Given the description of an element on the screen output the (x, y) to click on. 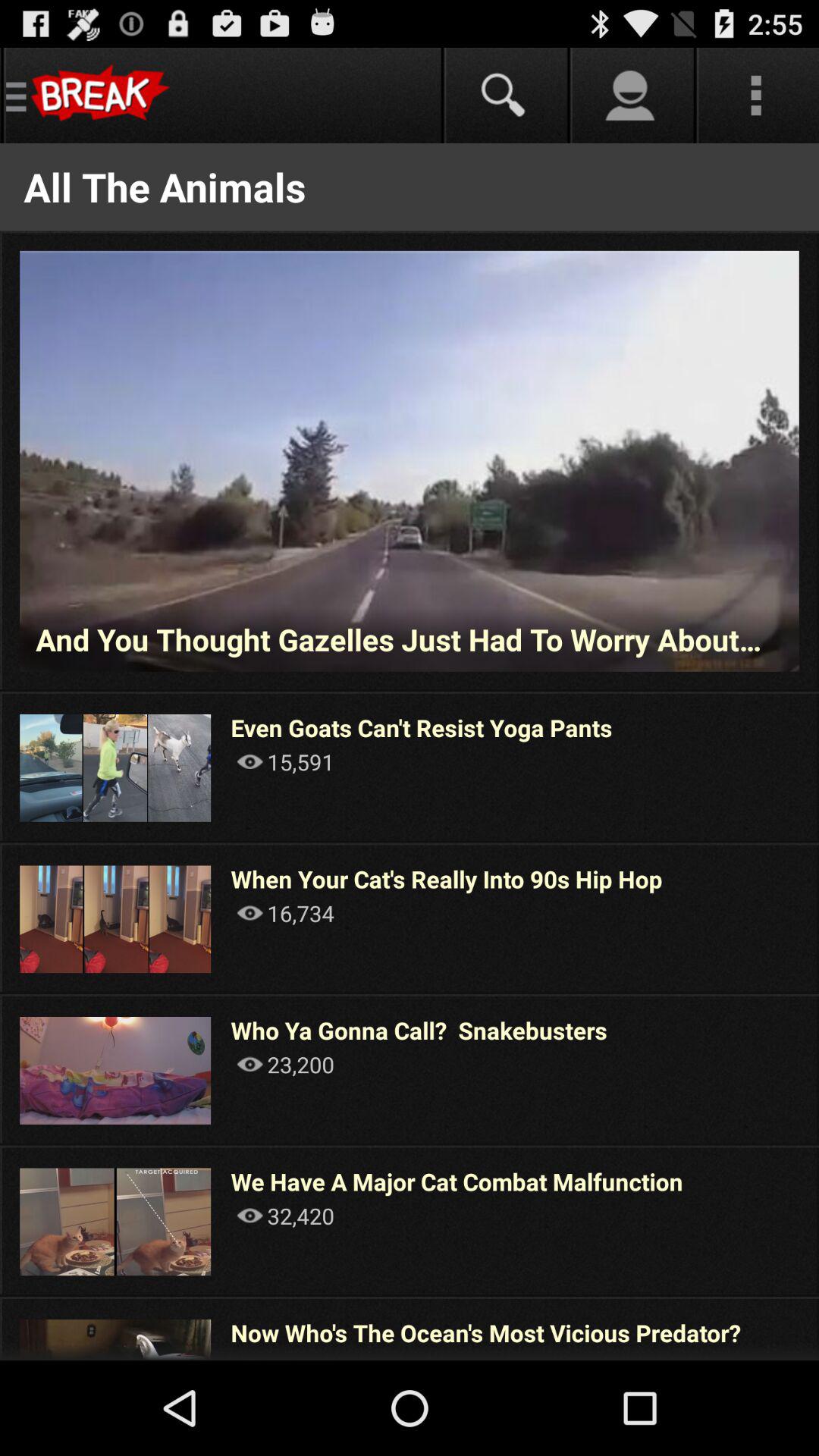
jump until now who s item (485, 1332)
